Given the description of an element on the screen output the (x, y) to click on. 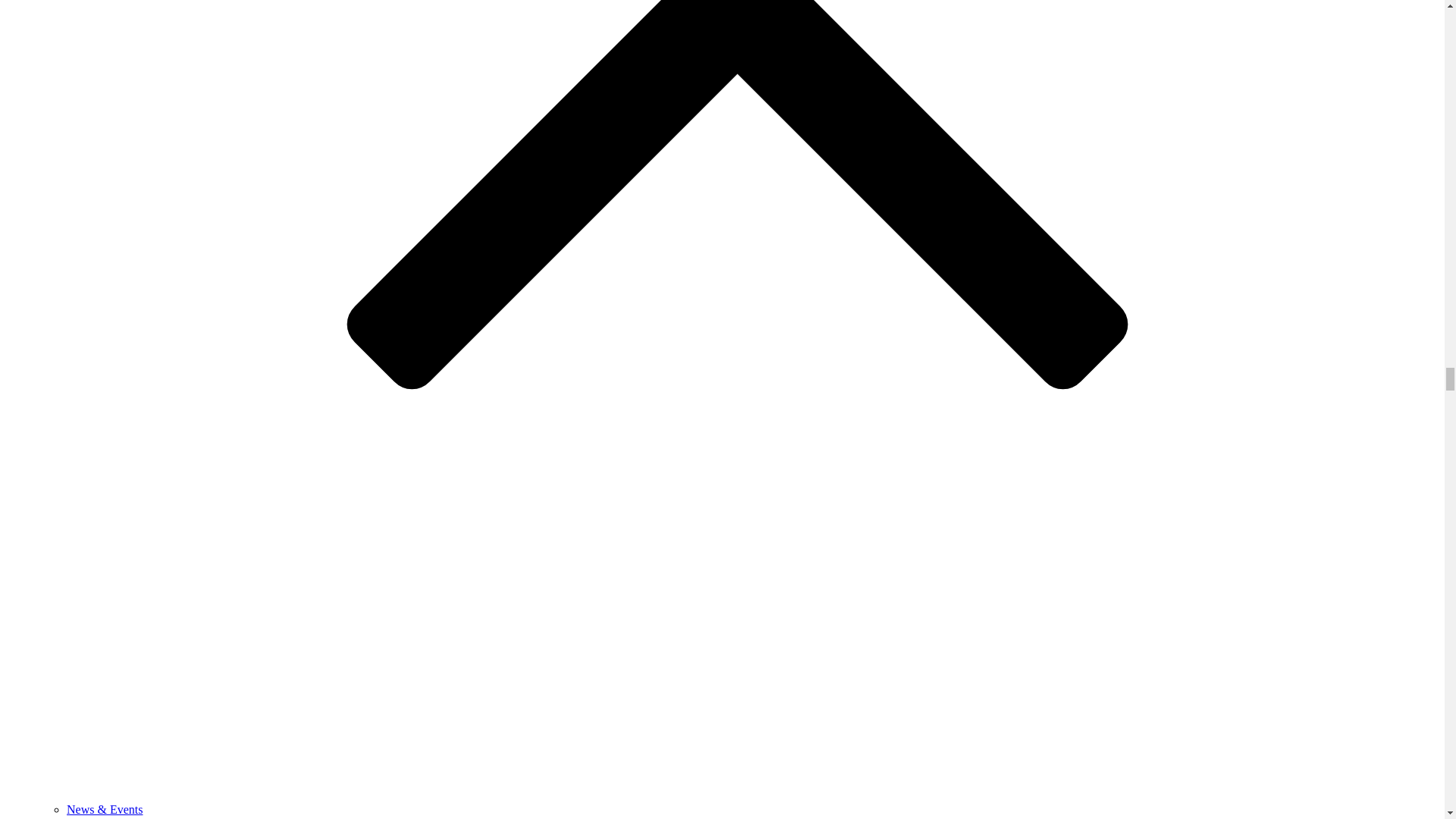
News (80, 817)
